Given the description of an element on the screen output the (x, y) to click on. 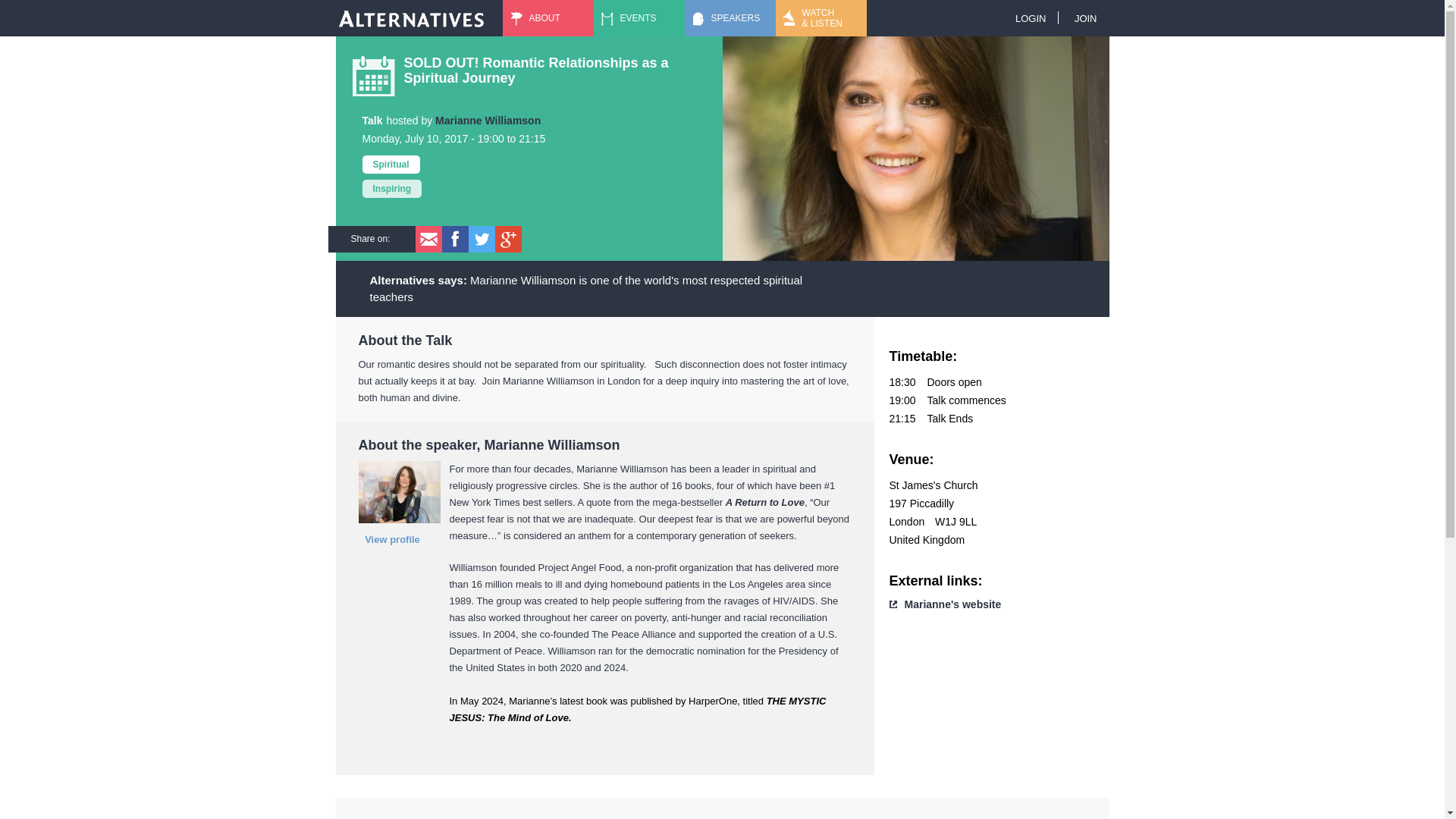
LOGIN (1029, 18)
View profile (392, 539)
JOIN (1085, 18)
SPEAKERS (729, 18)
ABOUT (547, 18)
EVENTS (638, 18)
Marianne Williamson (487, 120)
Marianne's website (952, 604)
Home (410, 18)
